Given the description of an element on the screen output the (x, y) to click on. 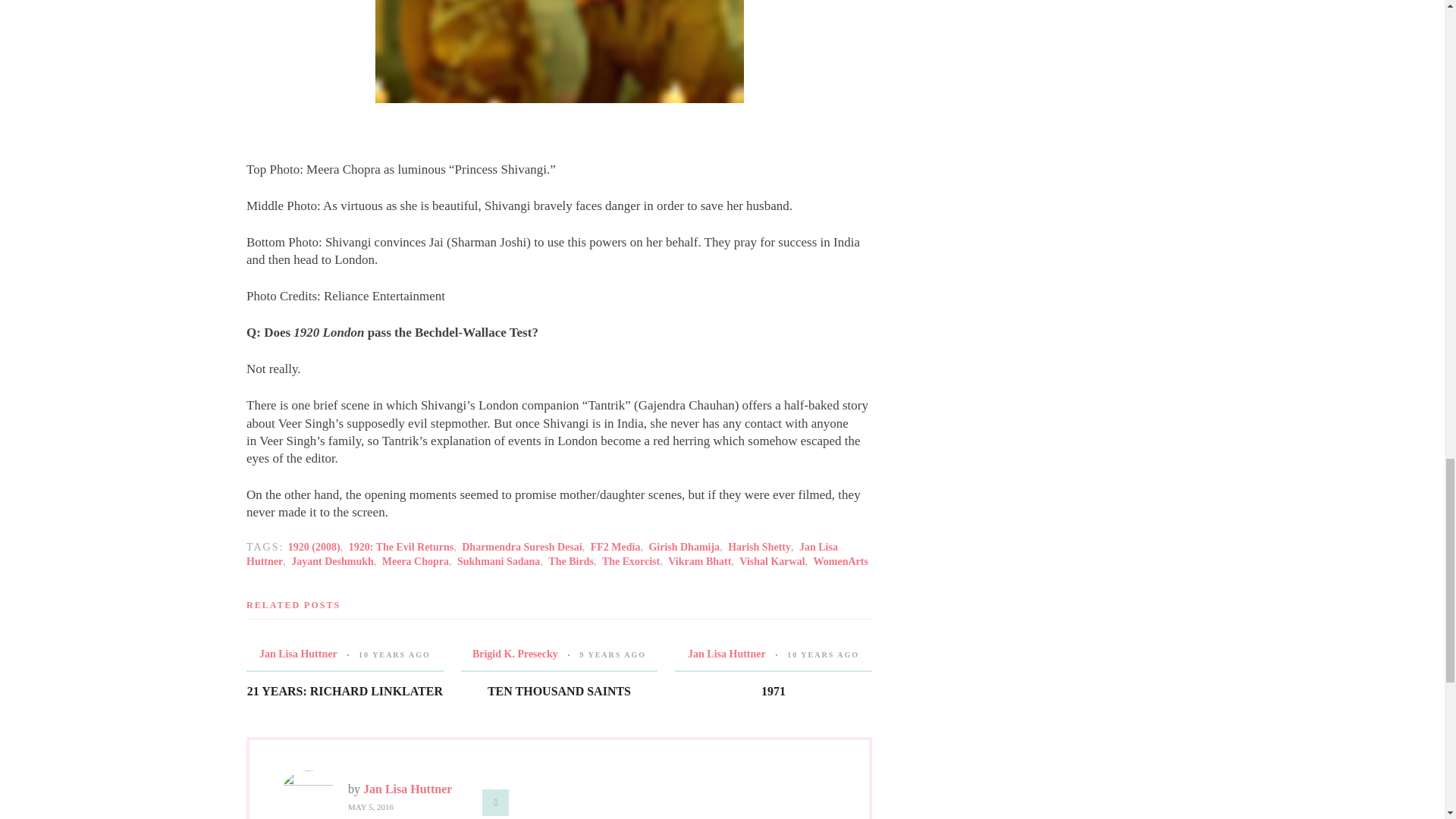
Posts by Jan Lisa Huttner (726, 654)
Posts by Jan Lisa Huttner (298, 654)
Posts by Jan Lisa Huttner (406, 788)
Posts by Brigid K. Presecky (514, 654)
